Given the description of an element on the screen output the (x, y) to click on. 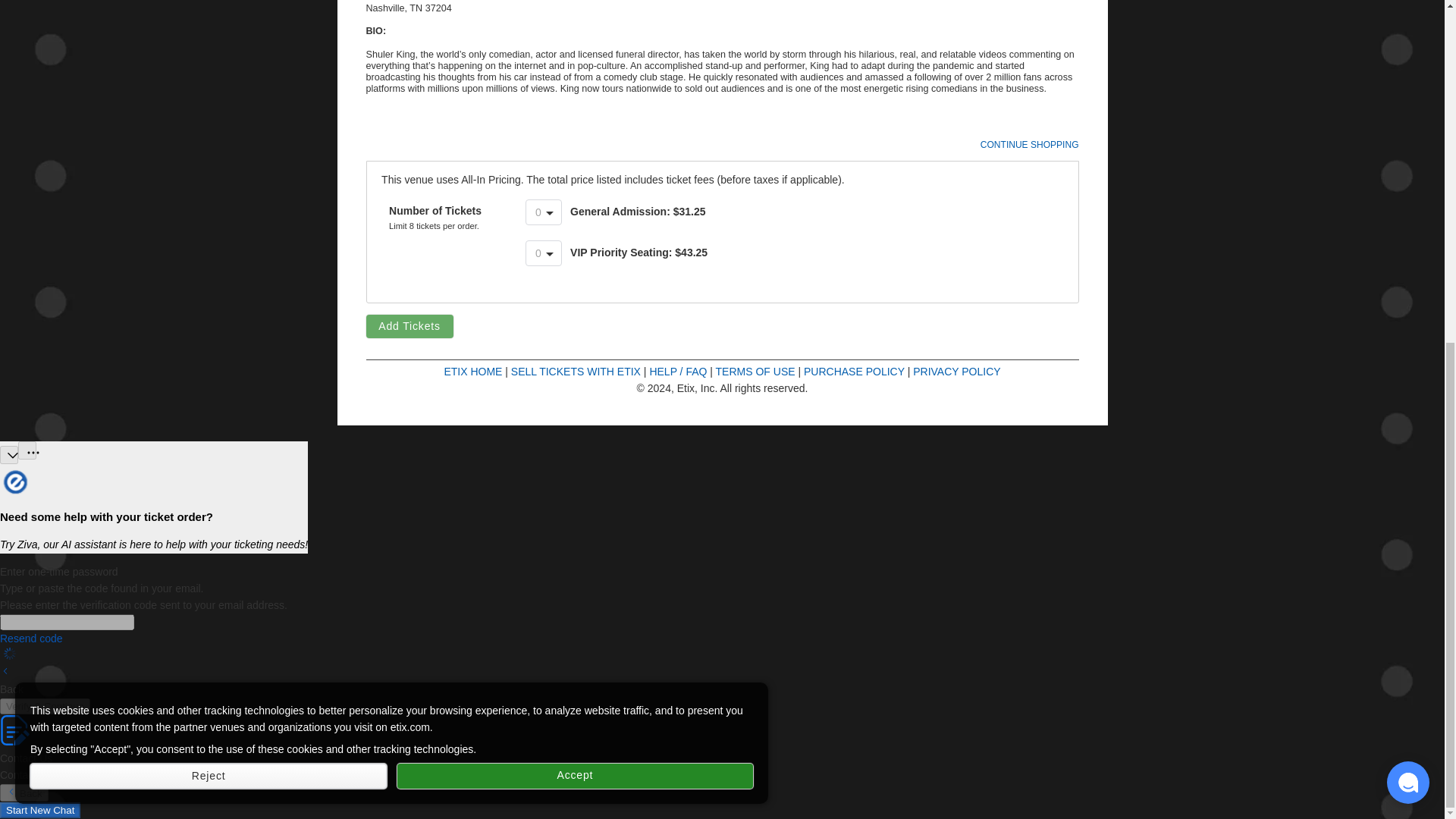
Accept (574, 191)
Reject (208, 191)
CONTINUE SHOPPING (1028, 144)
Add Tickets (408, 326)
PRIVACY POLICY (956, 371)
TERMS OF USE (755, 371)
SELL TICKETS WITH ETIX (575, 371)
ETIX HOME (473, 371)
PURCHASE POLICY (853, 371)
